Given the description of an element on the screen output the (x, y) to click on. 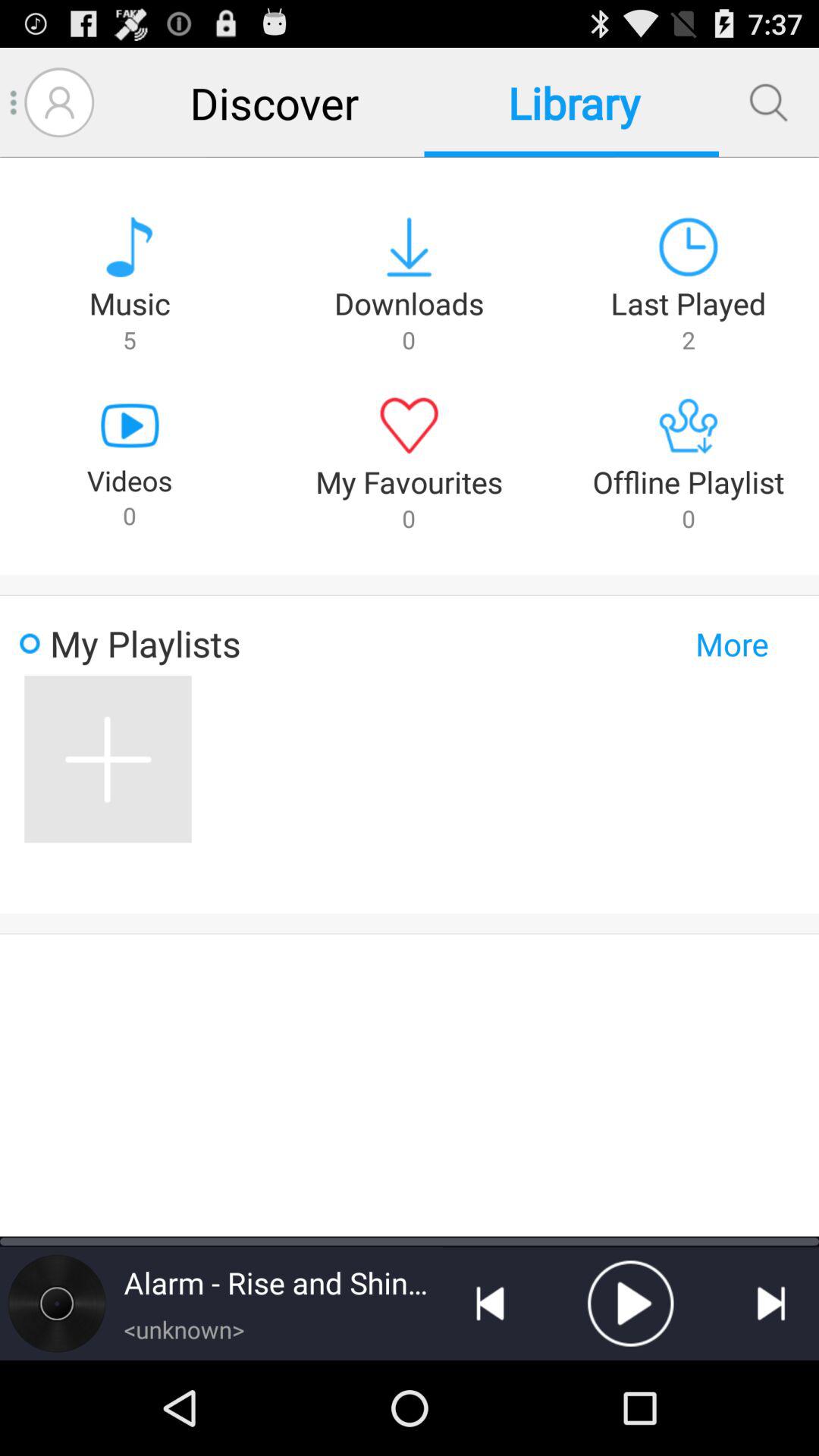
tap the app to the left of the discover (59, 102)
